Given the description of an element on the screen output the (x, y) to click on. 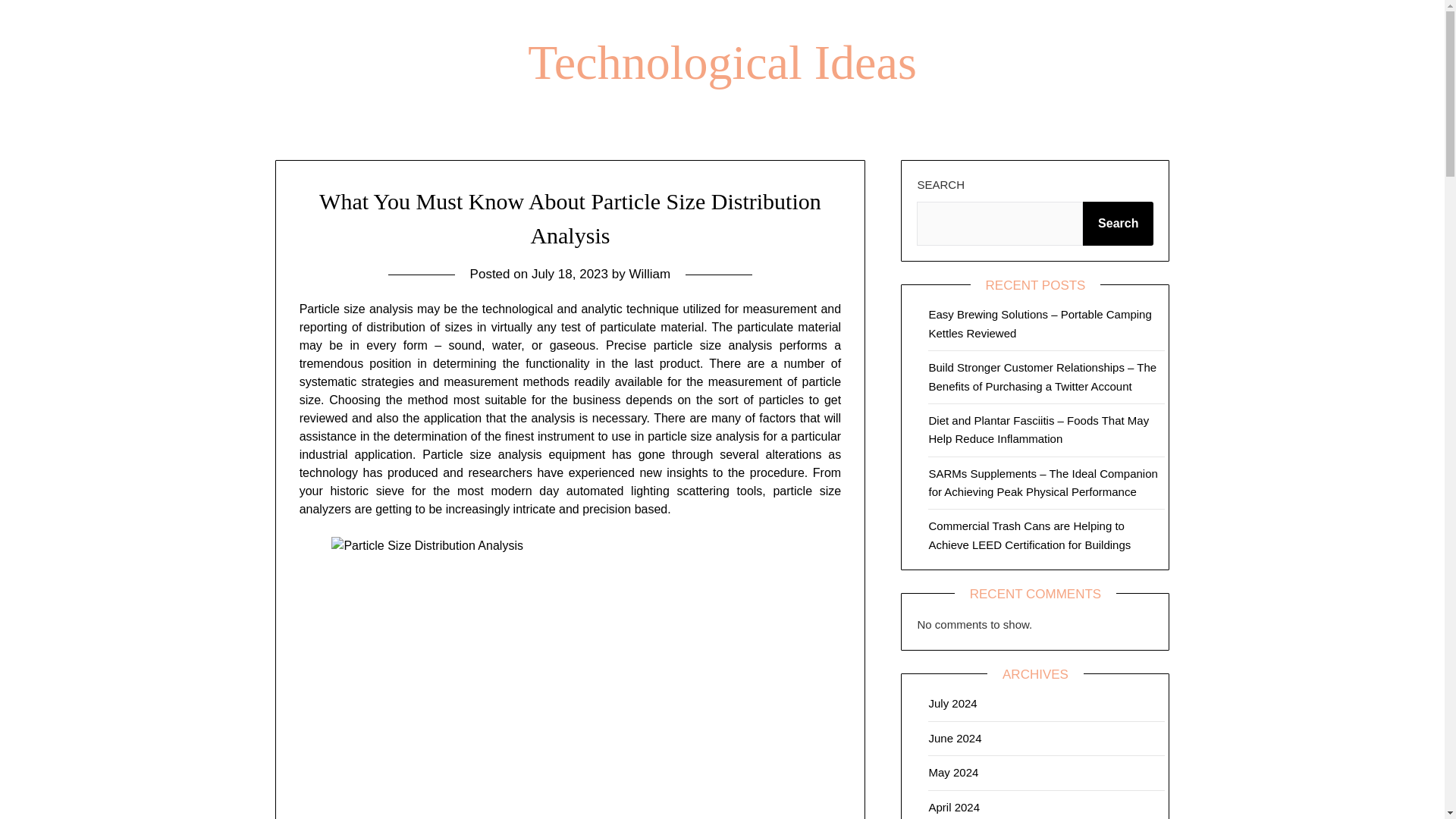
June 2024 (954, 738)
July 2024 (952, 703)
Technological Ideas (722, 62)
April 2024 (953, 807)
William (648, 273)
Search (1118, 223)
July 18, 2023 (569, 273)
May 2024 (953, 771)
